Given the description of an element on the screen output the (x, y) to click on. 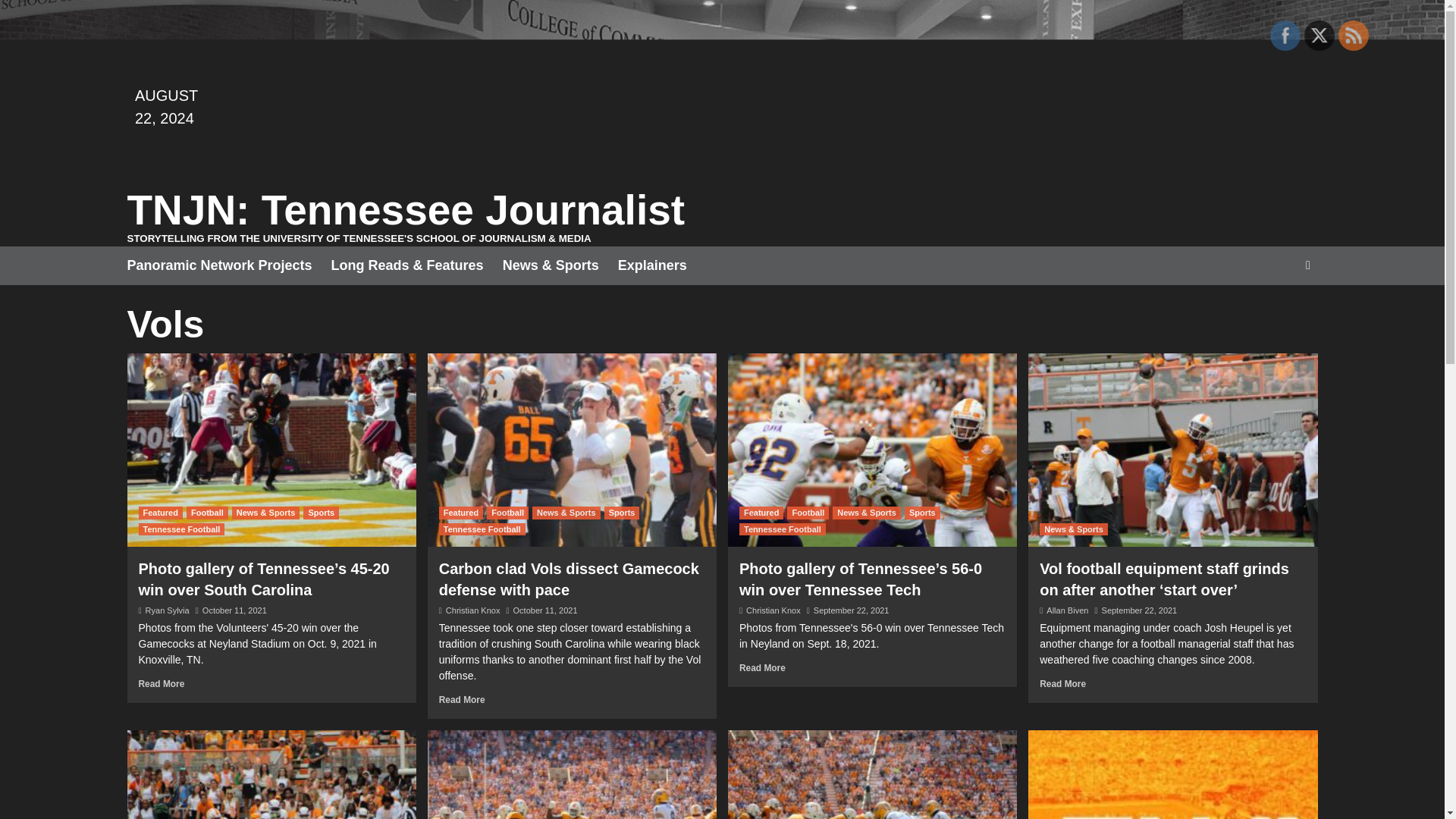
Read More (461, 699)
Football (807, 512)
Tennessee Football (482, 529)
TNJN: Tennessee Journalist (406, 209)
Christian Knox (472, 610)
October 11, 2021 (234, 610)
Read More (161, 683)
Featured (461, 512)
Featured (761, 512)
Tennessee Football (782, 529)
